Given the description of an element on the screen output the (x, y) to click on. 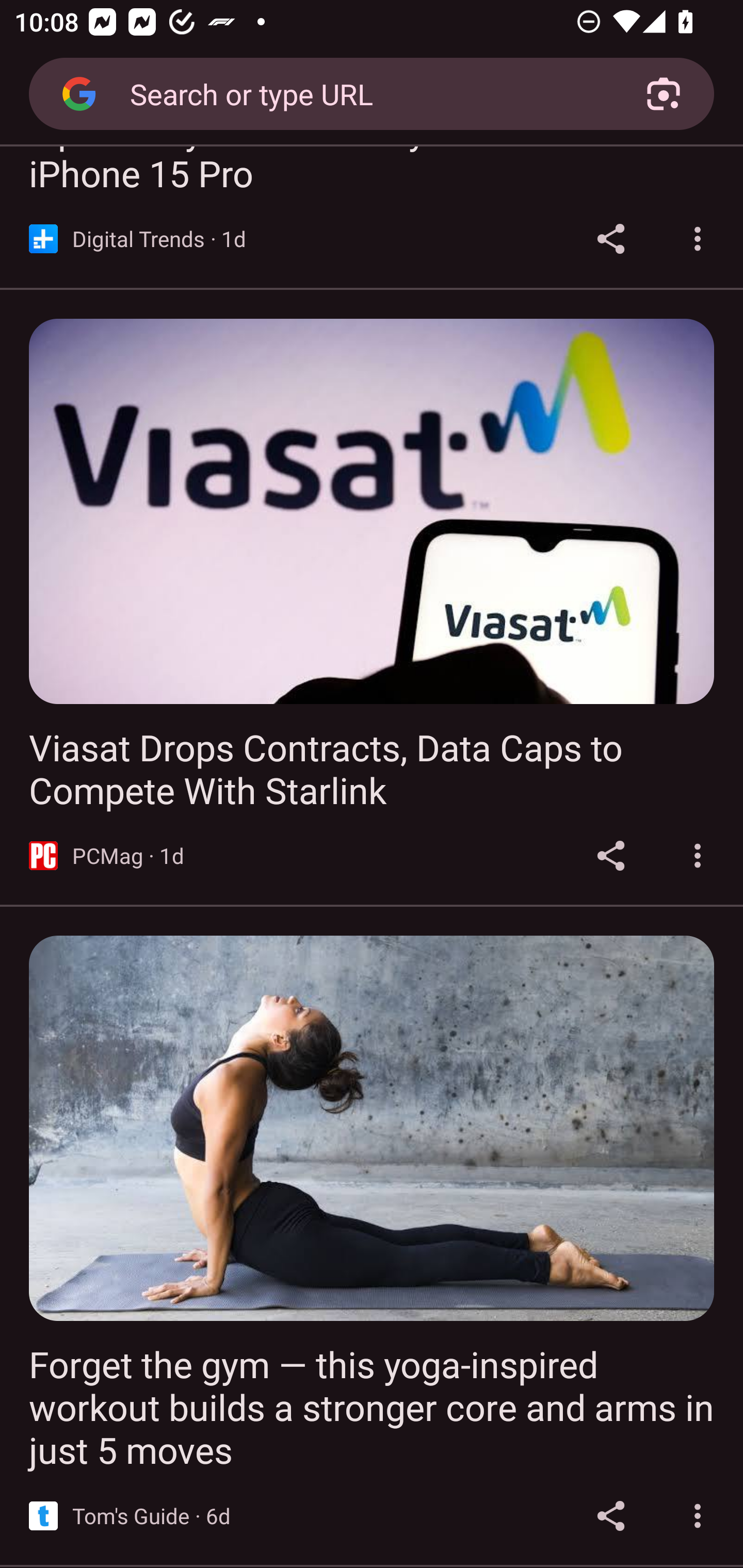
Search with your camera using Google Lens (663, 93)
Search or type URL (364, 92)
